Given the description of an element on the screen output the (x, y) to click on. 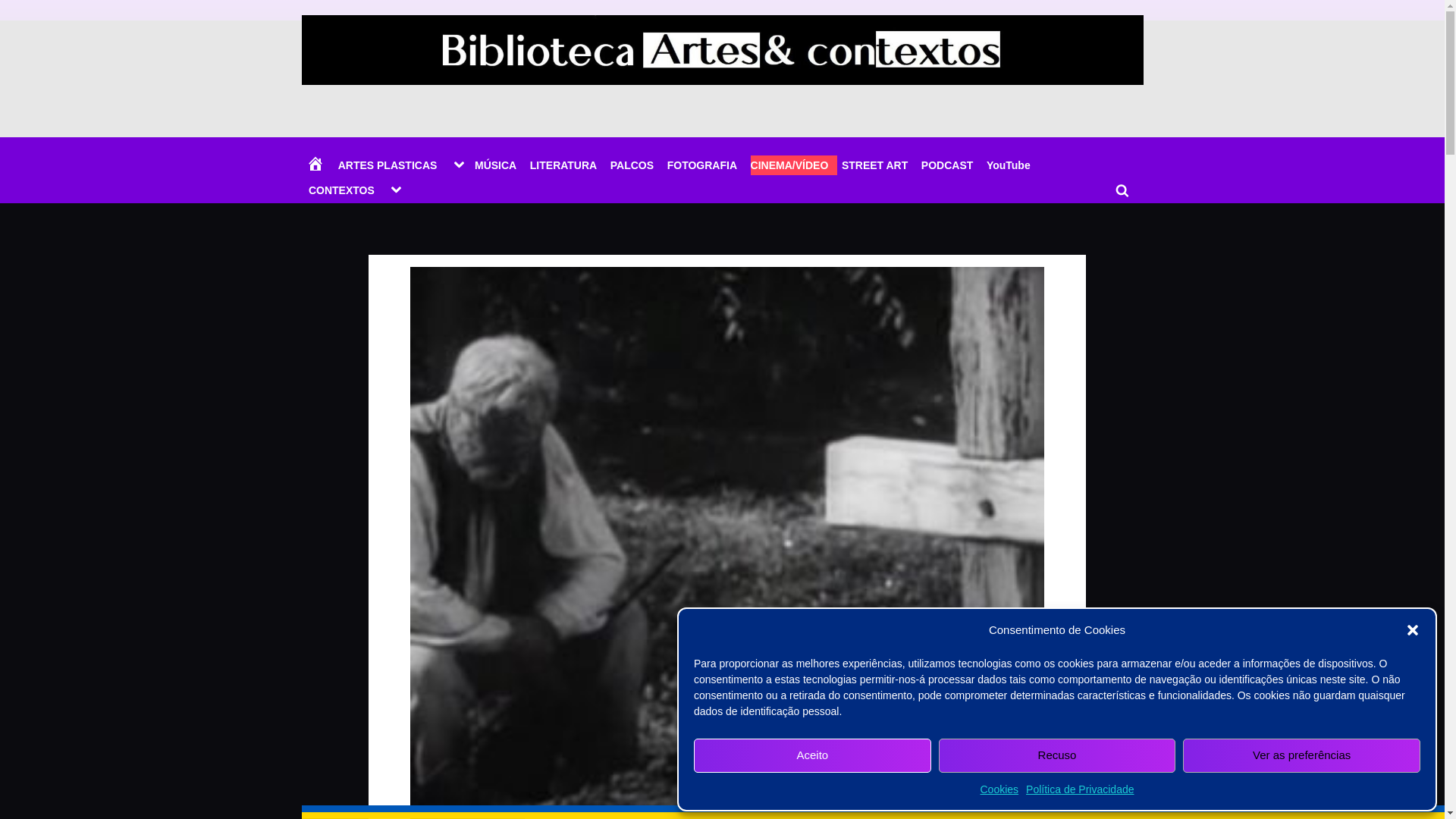
STREET ART (879, 165)
FOTOGRAFIA (705, 165)
Recuso (1057, 755)
Aceito (812, 755)
PALCOS (636, 165)
PODCAST (951, 165)
ARTES PLASTICAS (391, 165)
Toggle sub-menu (396, 190)
Cookies (998, 788)
Toggle sub-menu (458, 164)
YouTube (1013, 165)
CONTEXTOS (346, 189)
LITERATURA (567, 165)
